Given the description of an element on the screen output the (x, y) to click on. 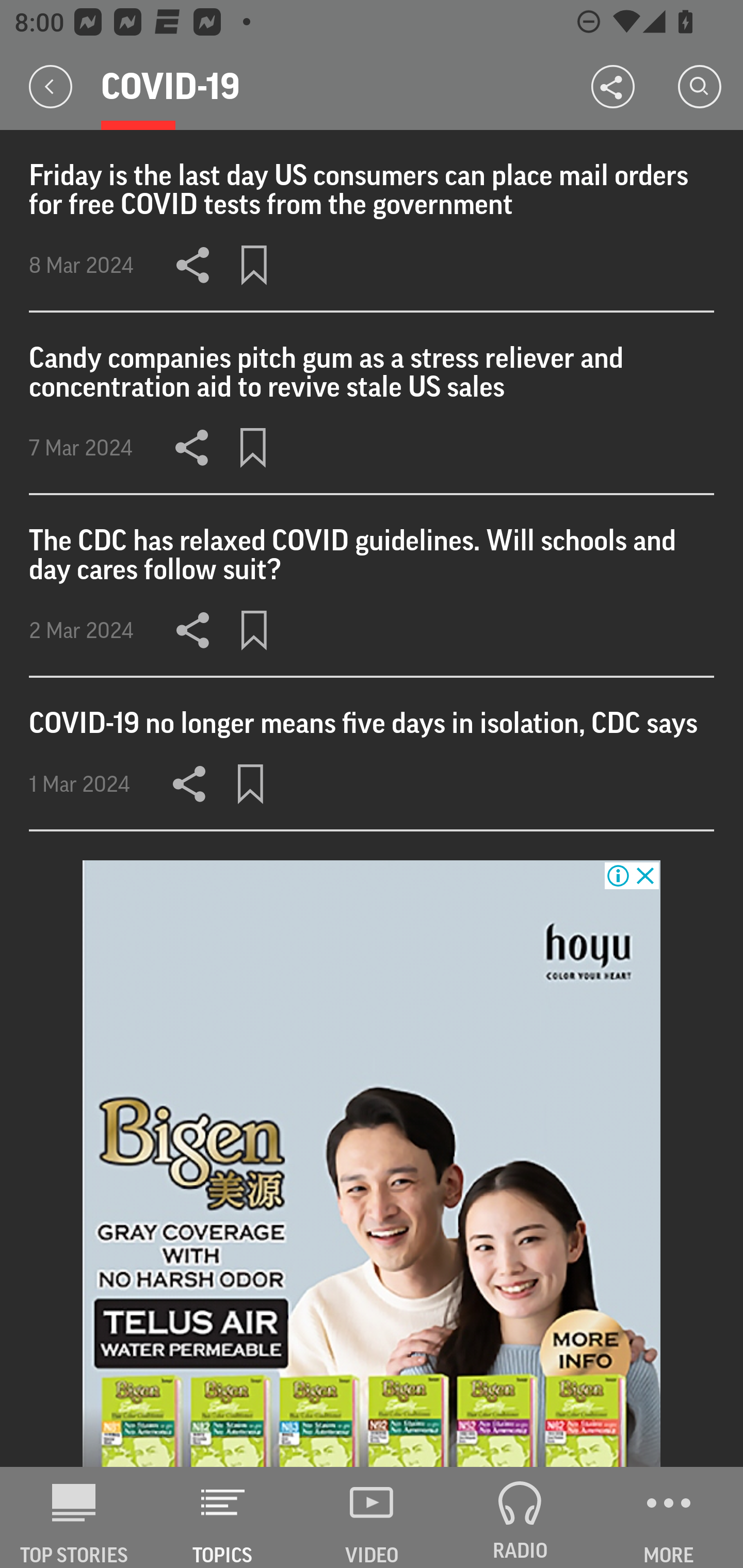
8 (371, 1163)
AP News TOP STORIES (74, 1517)
TOPICS (222, 1517)
VIDEO (371, 1517)
RADIO (519, 1517)
MORE (668, 1517)
